Given the description of an element on the screen output the (x, y) to click on. 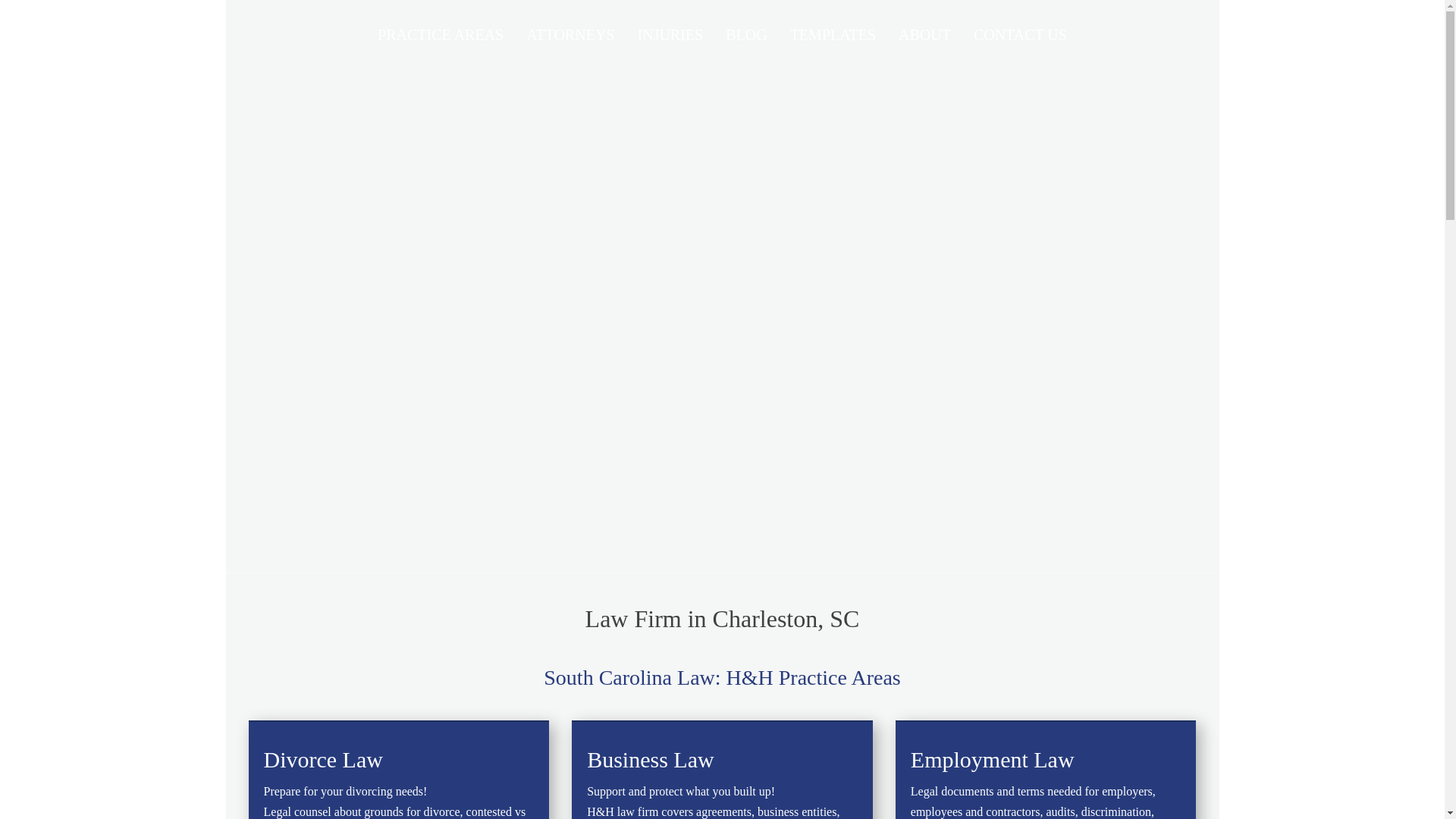
TEMPLATES (832, 34)
ABOUT (924, 34)
BLOG (745, 34)
INJURIES (670, 34)
ABOUT (924, 34)
ATTORNEYS (570, 34)
CONTACT US (1020, 34)
TEMPLATES (832, 34)
BLOG (745, 34)
PRACTICE AREAS (440, 34)
